Given the description of an element on the screen output the (x, y) to click on. 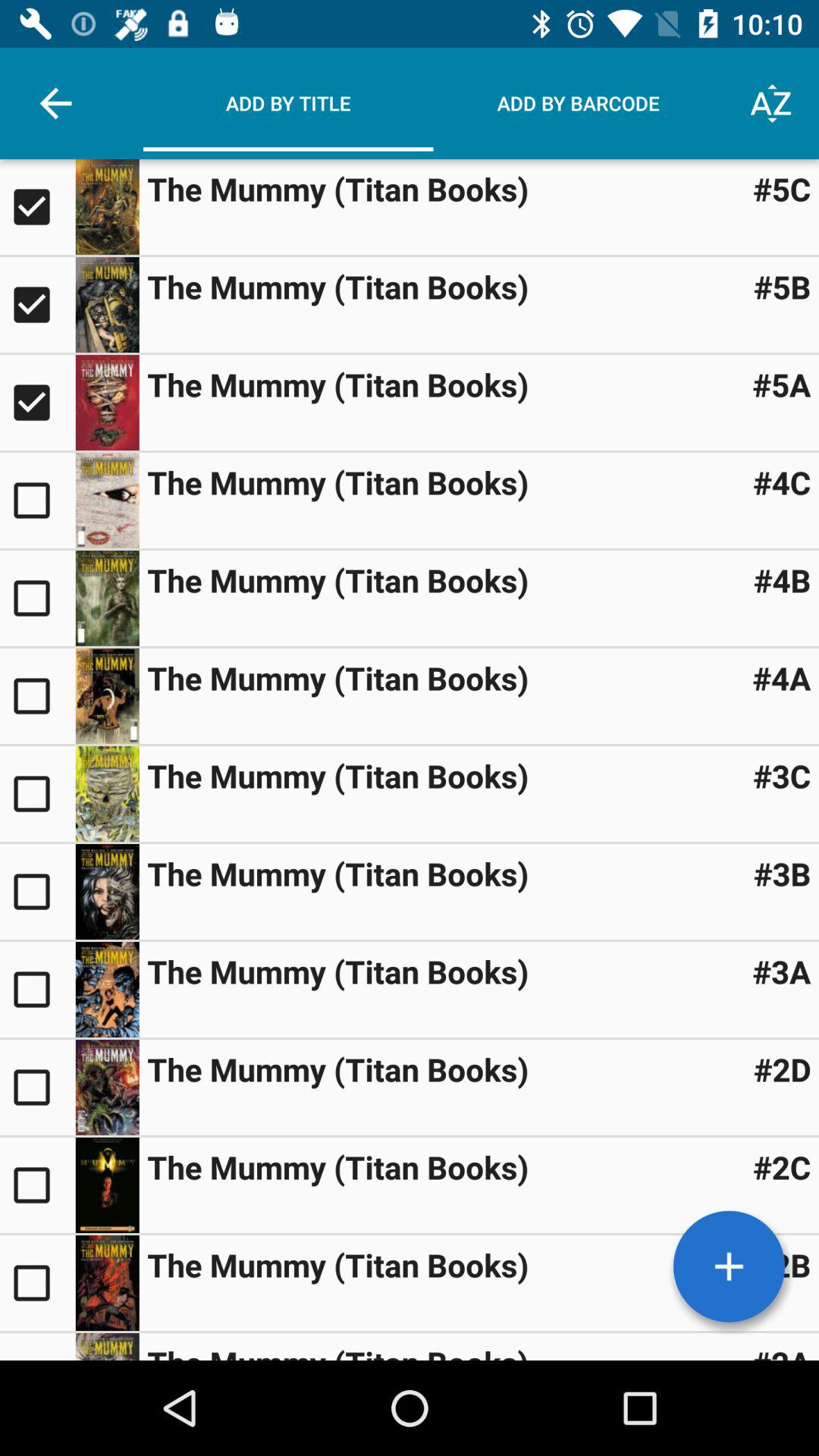
select item next to the mummy titan icon (782, 286)
